Given the description of an element on the screen output the (x, y) to click on. 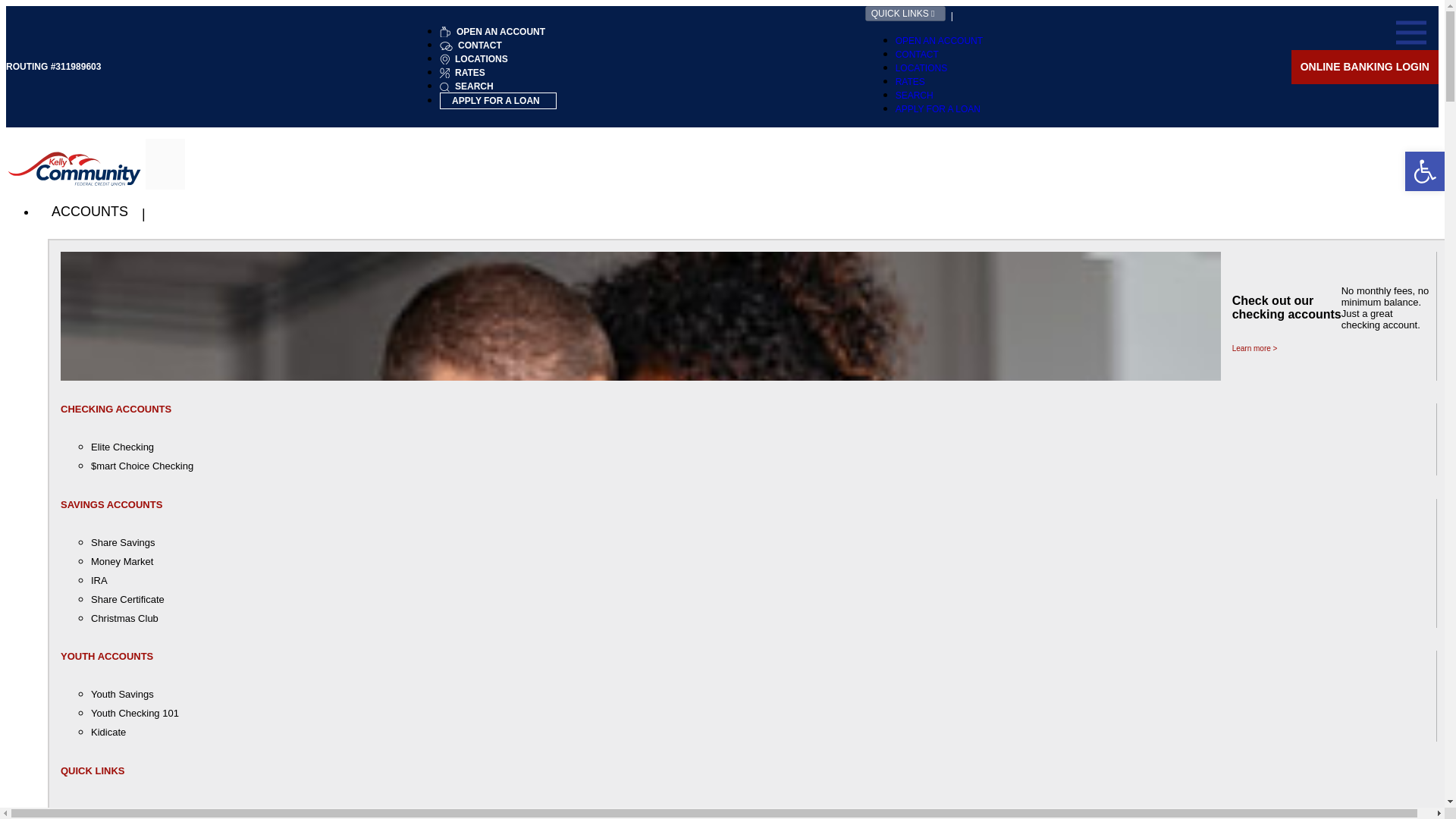
CONTACT (917, 54)
Youth Savings (762, 693)
LOCATIONS (479, 59)
OPEN AN ACCOUNT (497, 31)
LOANS (76, 815)
Christmas Club (762, 618)
ACCOUNTS (91, 219)
RATES (909, 81)
Money Market (762, 561)
CONTACT (476, 45)
Elite Checking (762, 446)
Share Certificate (762, 599)
APPLY FOR A LOAN (496, 100)
QUICK LINKS (904, 13)
RATES (467, 72)
